Given the description of an element on the screen output the (x, y) to click on. 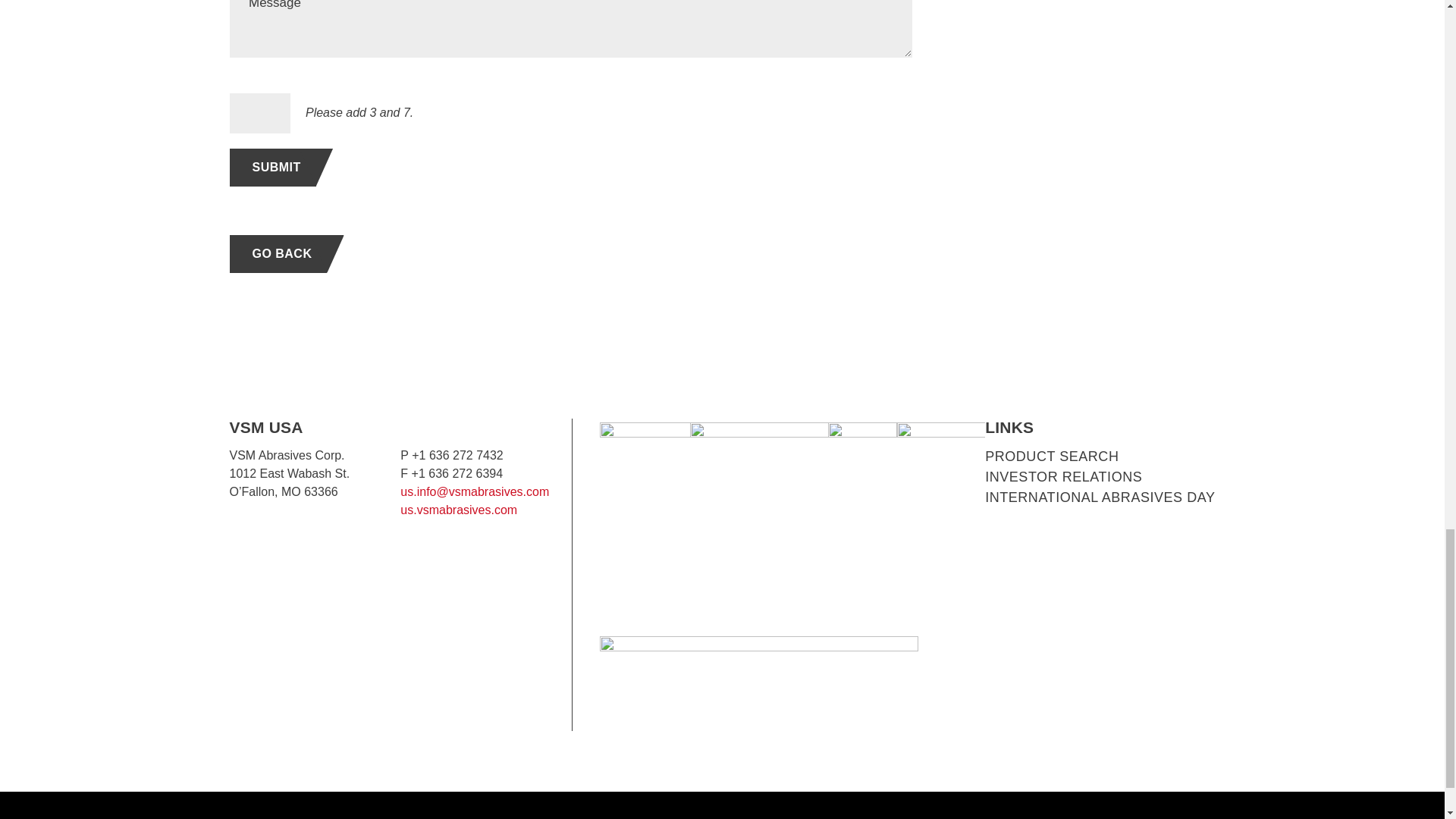
GO BACK (277, 253)
us.vsmabrasives.com (458, 509)
PRODUCT SEARCH (1051, 456)
INTERNATIONAL ABRASIVES DAY (1099, 497)
INVESTOR RELATIONS (1063, 476)
SUBMIT (271, 167)
